Given the description of an element on the screen output the (x, y) to click on. 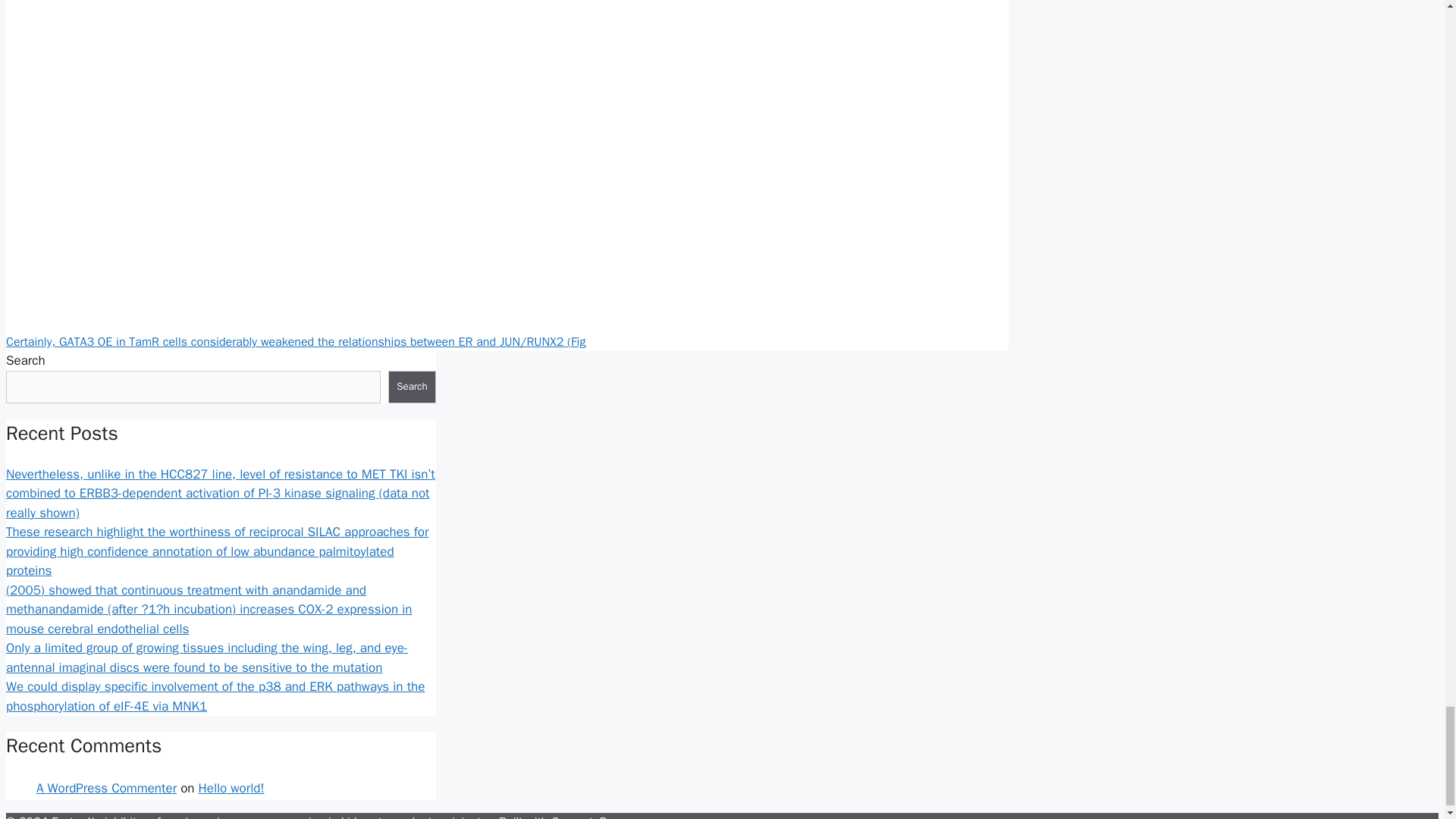
Hello world! (231, 788)
Next (295, 341)
Search (411, 387)
A WordPress Commenter (106, 788)
